Given the description of an element on the screen output the (x, y) to click on. 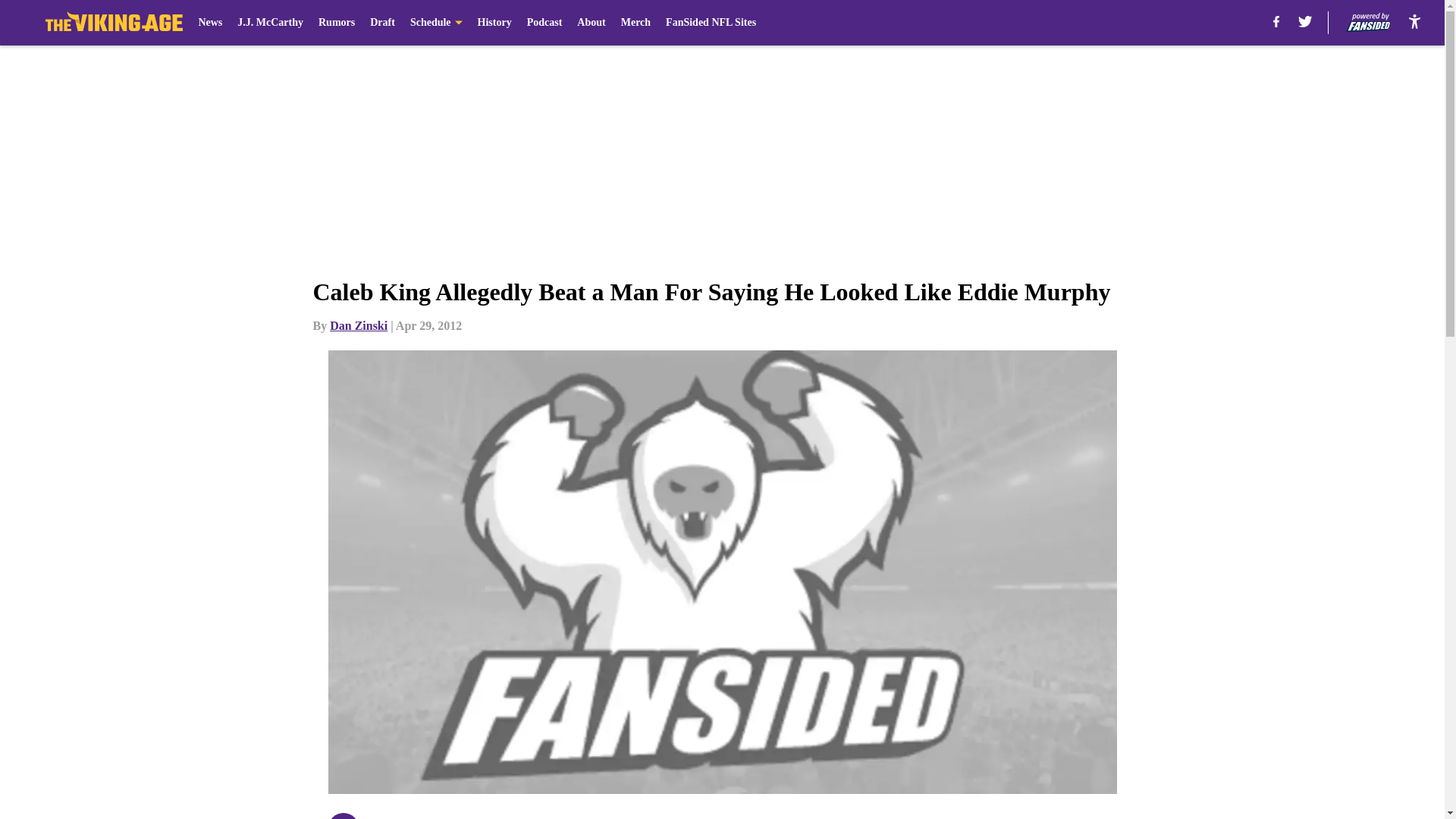
Merch (635, 22)
News (210, 22)
Podcast (544, 22)
J.J. McCarthy (269, 22)
FanSided NFL Sites (710, 22)
About (590, 22)
Dan Zinski (358, 325)
Rumors (336, 22)
History (494, 22)
Draft (381, 22)
